Given the description of an element on the screen output the (x, y) to click on. 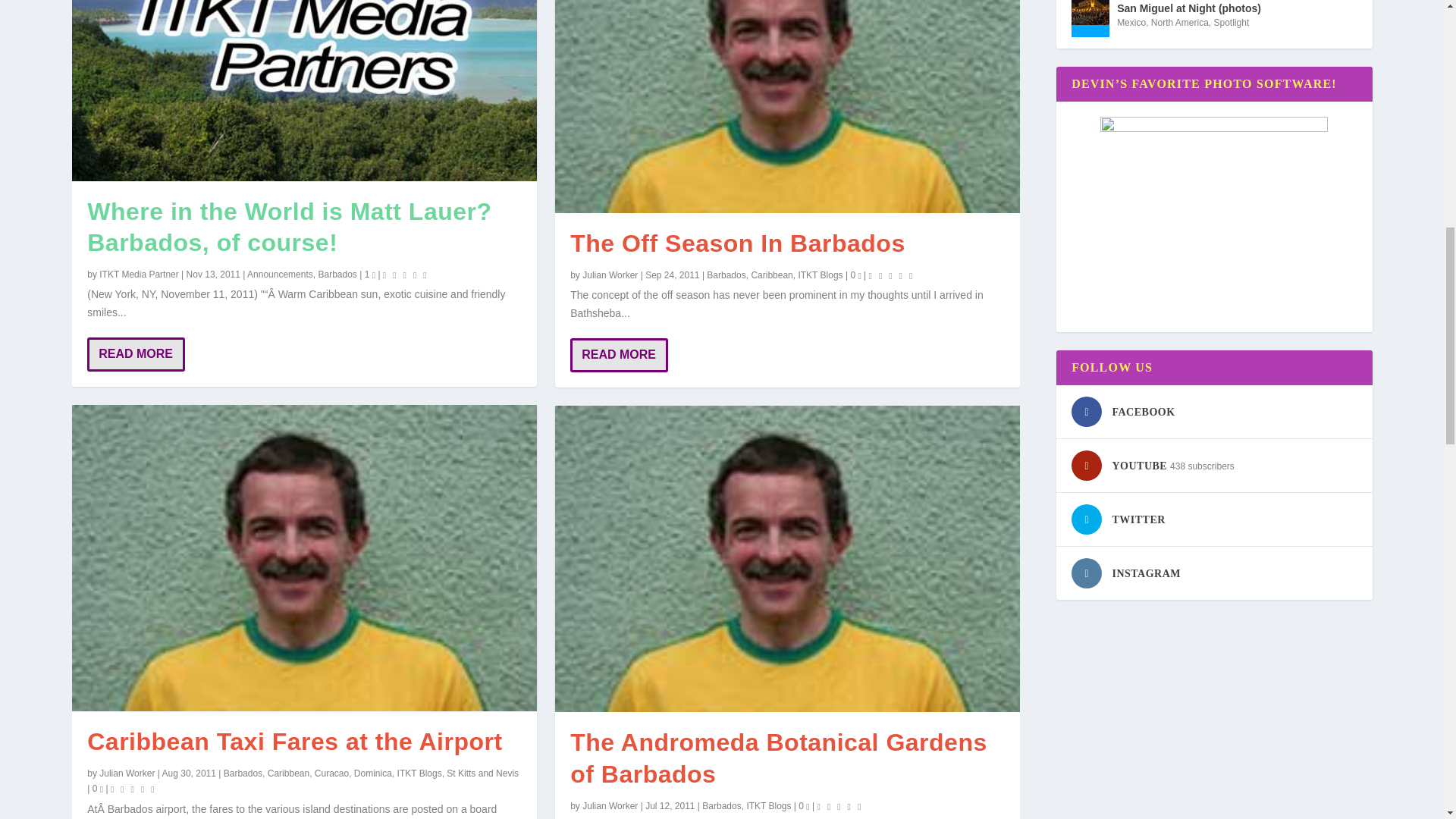
Where in the World is Matt Lauer? Barbados, of course! (304, 90)
Posts by ITKT Media Partner (138, 274)
Rating: 0.00 (134, 788)
Rating: 0.00 (406, 273)
Posts by Julian Worker (126, 773)
